Given the description of an element on the screen output the (x, y) to click on. 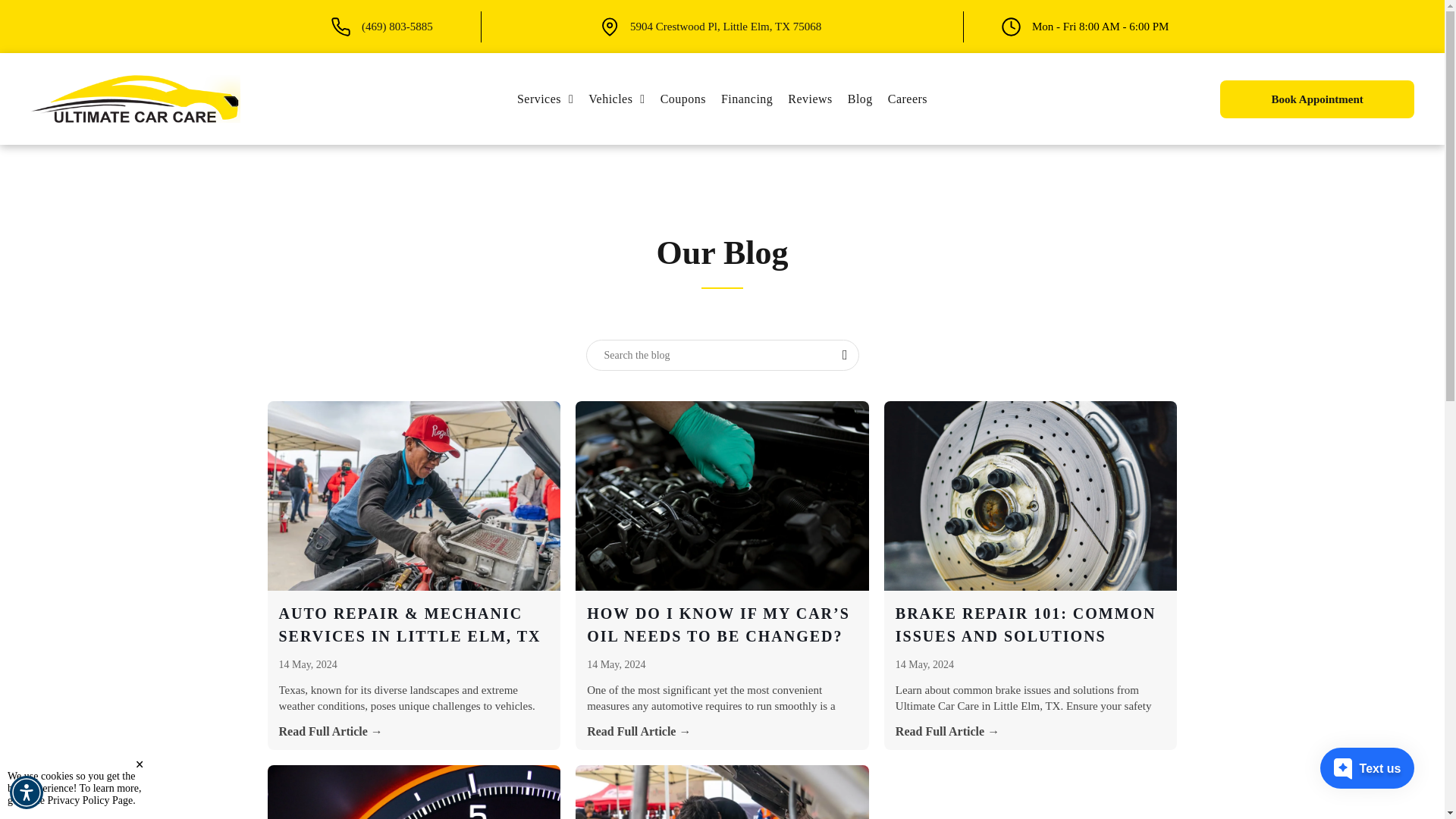
Visit Page (721, 99)
Services (616, 98)
5904 Crestwood Pl, Little Elm, TX 75068 (544, 98)
5904 Crestwood Pl, Little Elm, TX 75068 (725, 26)
Vehicles (544, 98)
Accessibility Menu (725, 26)
